Given the description of an element on the screen output the (x, y) to click on. 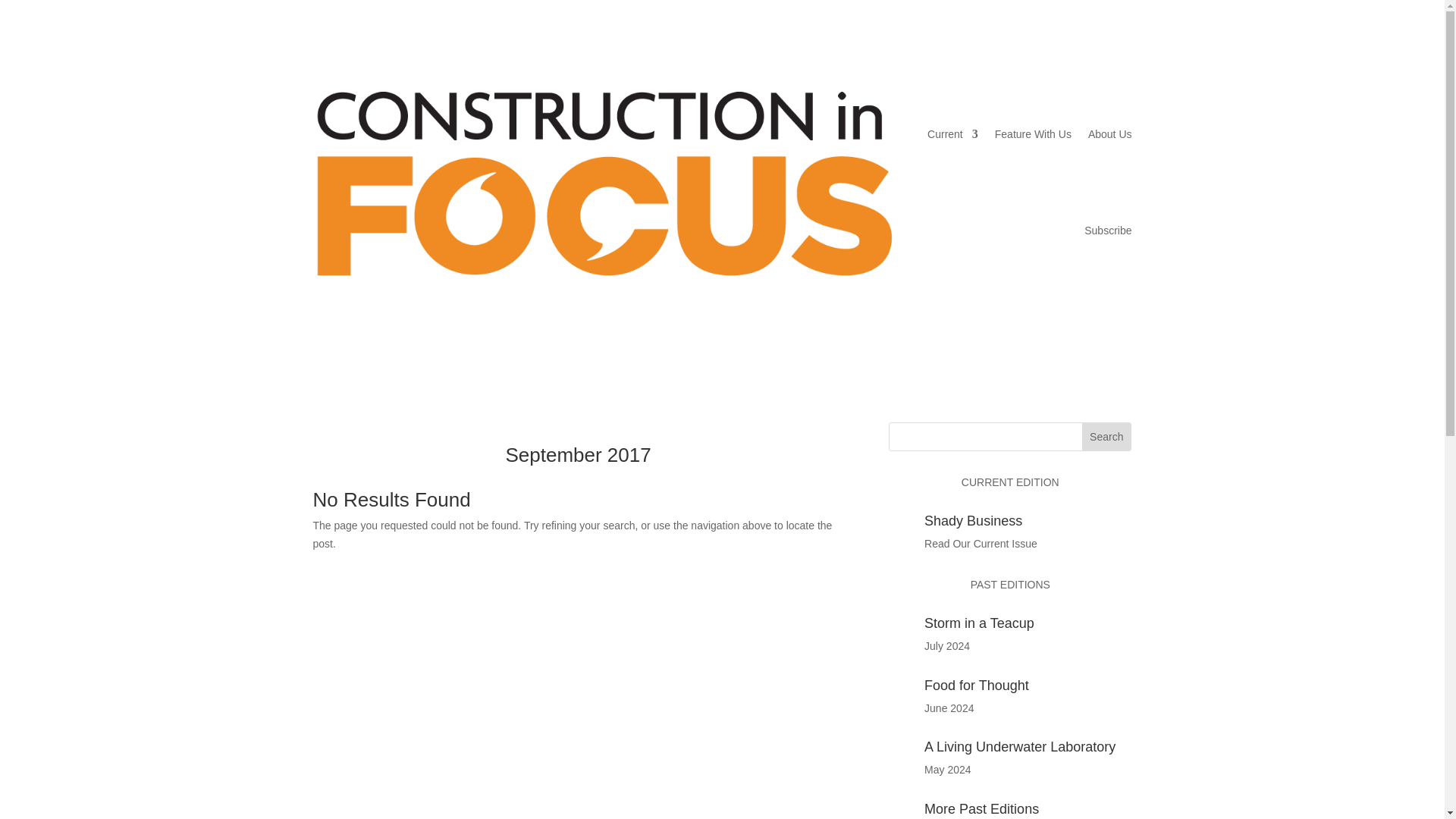
Search (1106, 436)
Search (1106, 436)
Search (1106, 436)
